Given the description of an element on the screen output the (x, y) to click on. 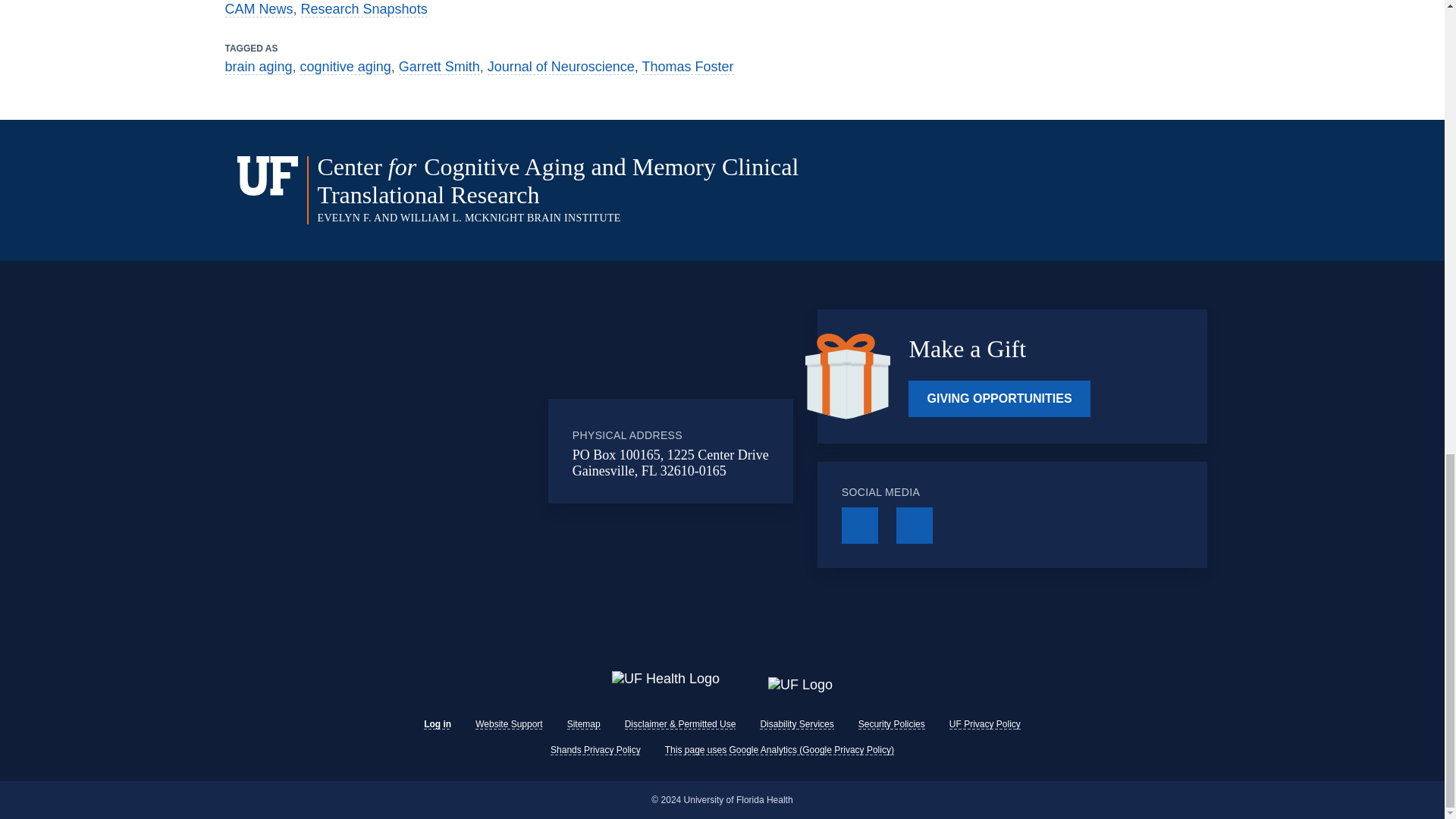
Website Support (509, 724)
Security Policies (891, 724)
Google Maps Embed (440, 451)
Shands Privacy Policy (595, 749)
UF Privacy Policy (984, 724)
Log in (437, 724)
Sitemap (583, 724)
Disability Services (796, 724)
